Given the description of an element on the screen output the (x, y) to click on. 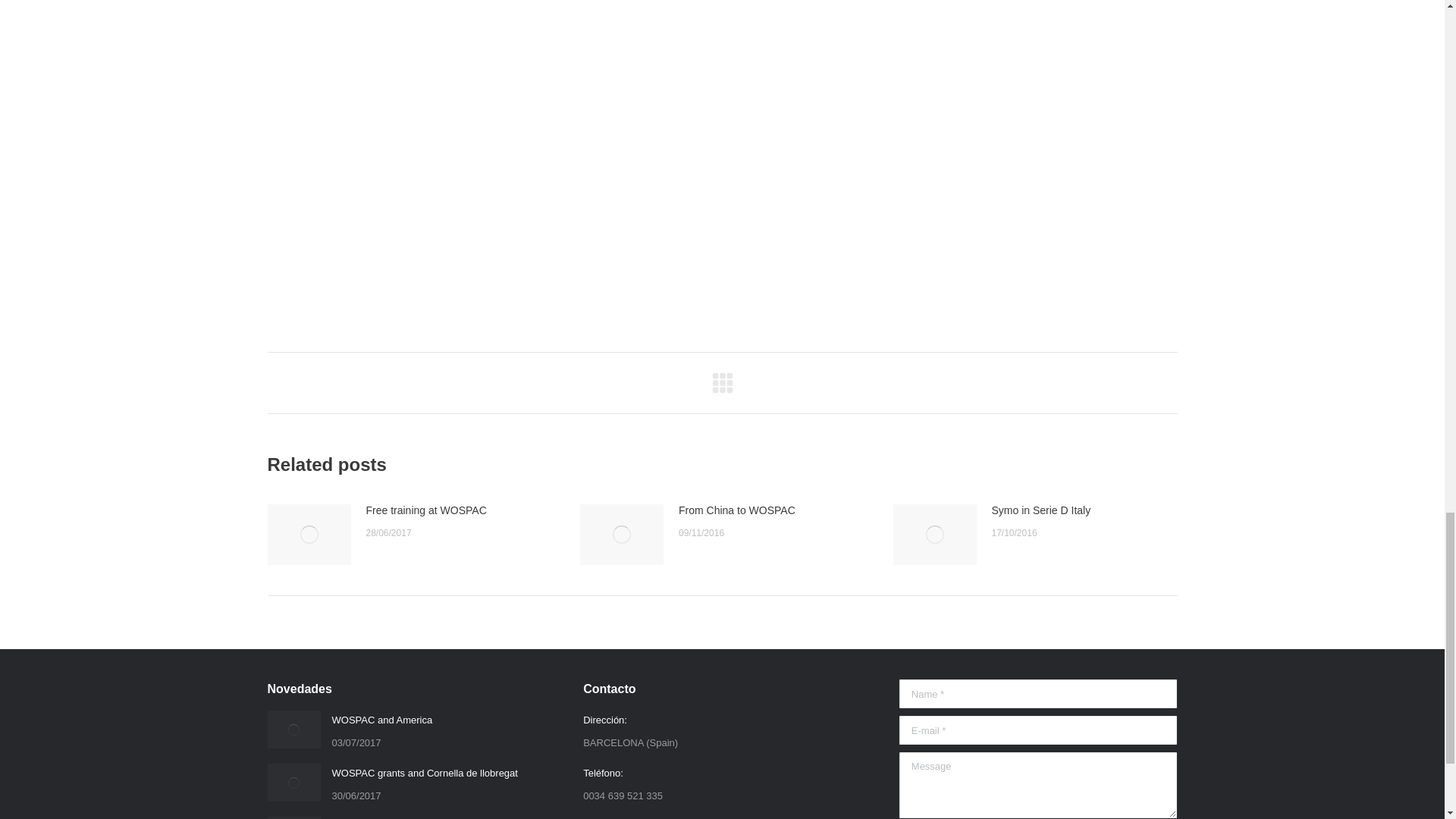
Symo in Serie D Italy (1040, 510)
WOSPAC grants and Cornella de llobregat (424, 772)
From China to WOSPAC (736, 510)
WOSPAC and America (381, 719)
Free training at WOSPAC (425, 510)
Free training at WOSPAC (387, 817)
